Given the description of an element on the screen output the (x, y) to click on. 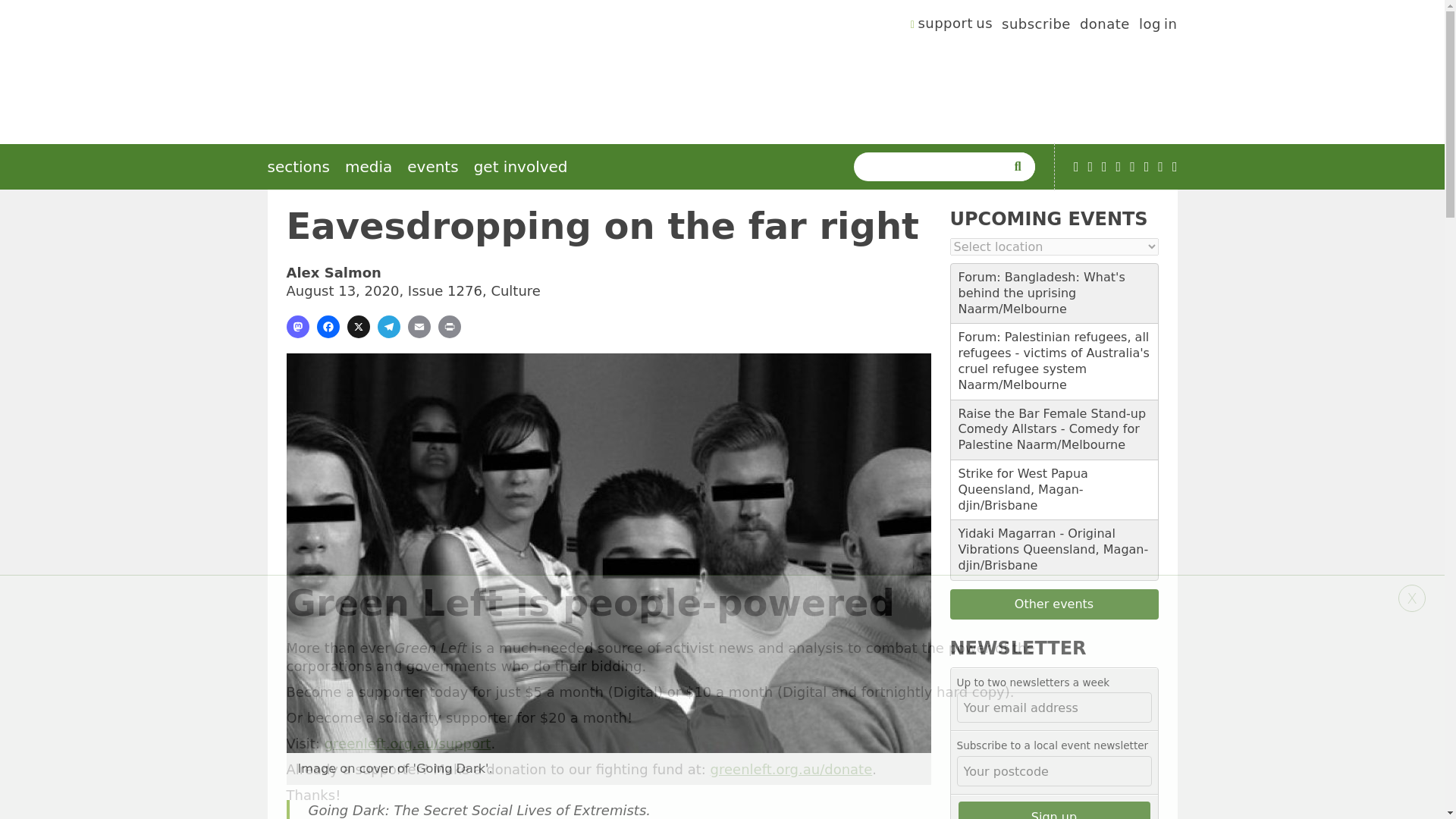
donate (1104, 26)
Sign up (1054, 810)
share via email (418, 326)
log in (1157, 26)
events (432, 166)
Share on Facebook (328, 326)
Print (449, 326)
subscribe (1035, 26)
Share on Telegram (388, 326)
Share on Mastondon (297, 326)
